Given the description of an element on the screen output the (x, y) to click on. 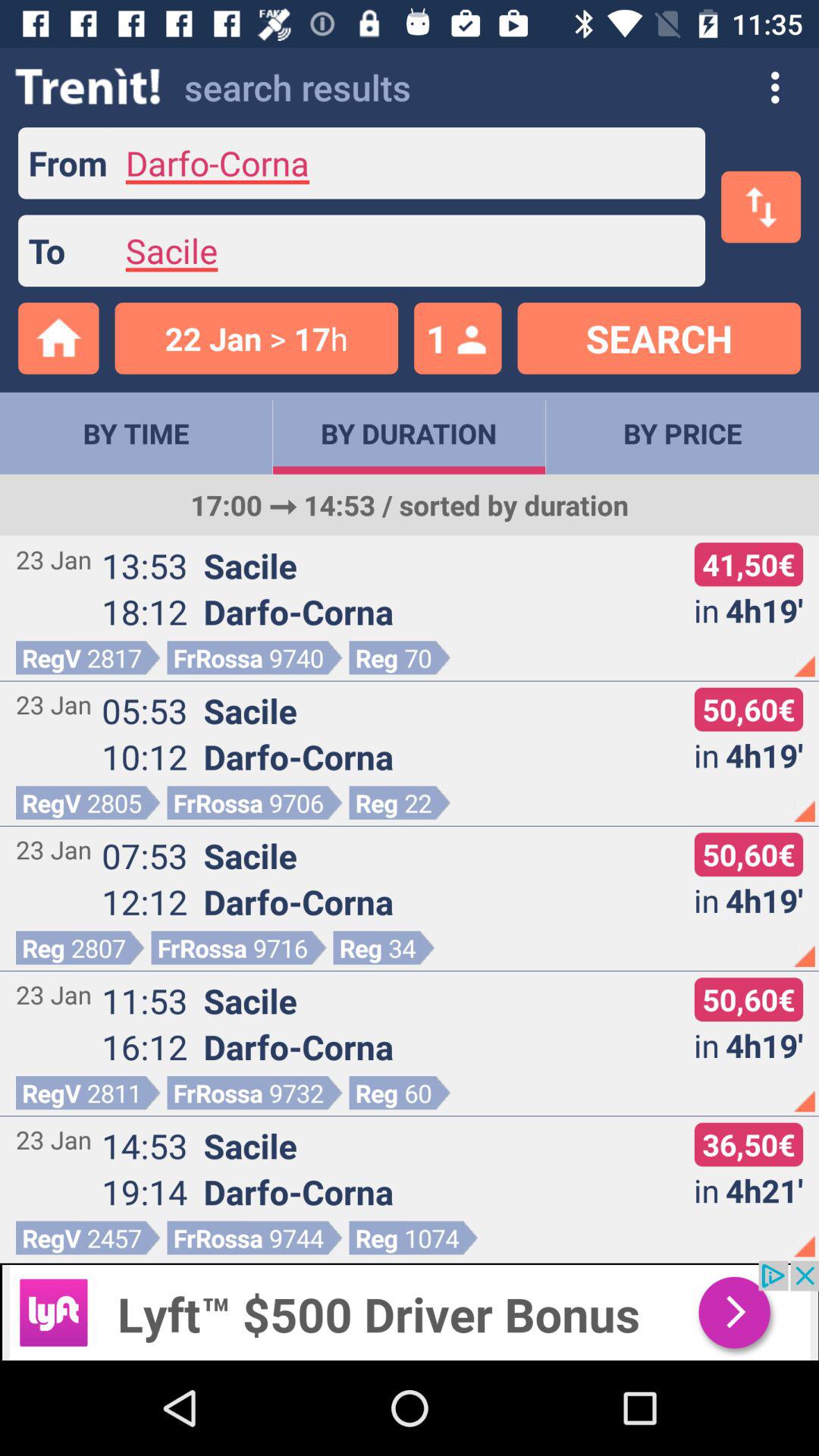
click advertisement (409, 1310)
